Given the description of an element on the screen output the (x, y) to click on. 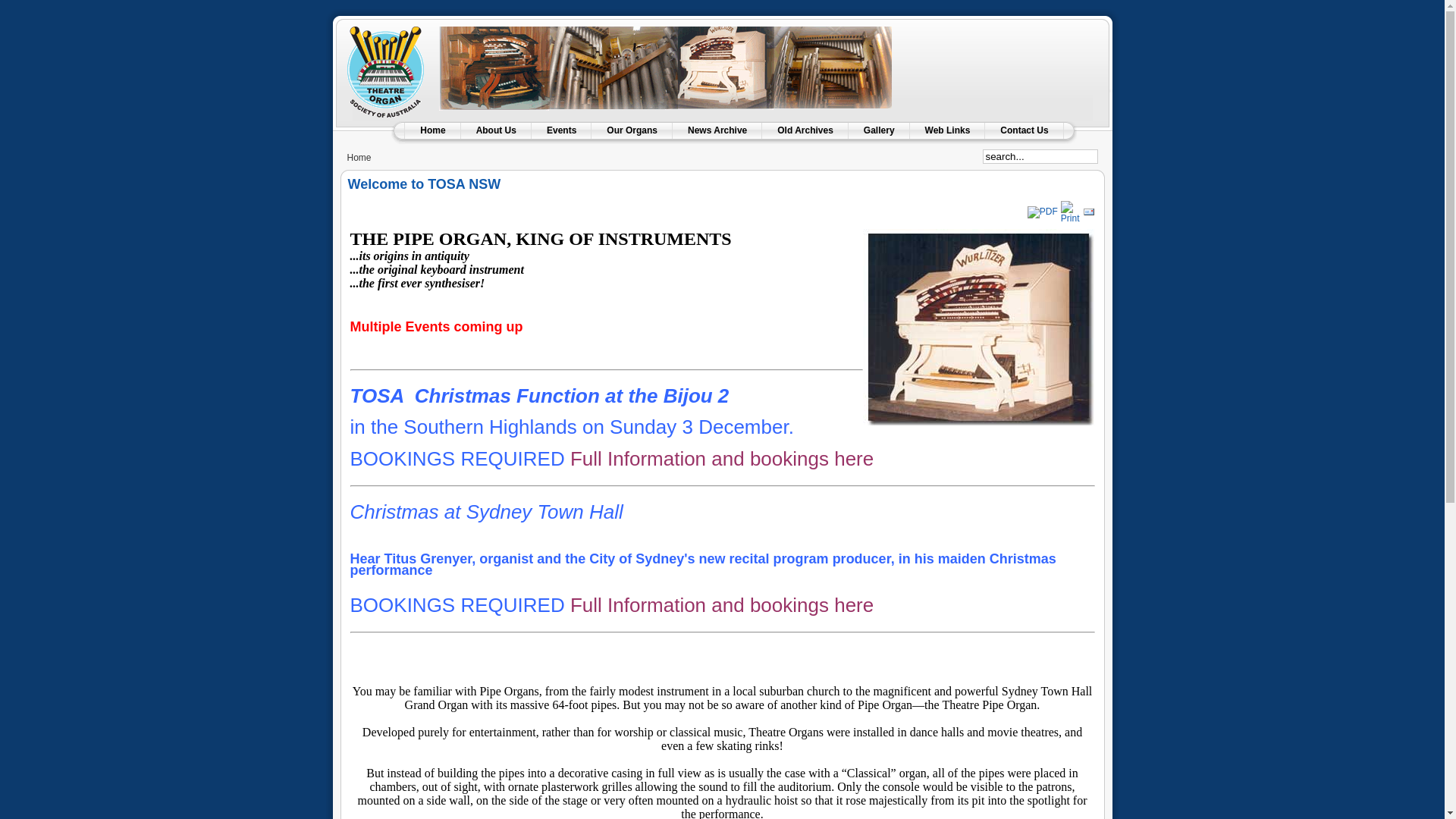
Full Information and bookings here Element type: text (721, 462)
Events Element type: text (561, 130)
Print Element type: hover (1069, 218)
Contact Us Element type: text (1024, 130)
News Archive Element type: text (717, 130)
Full Information and bookings here Element type: text (721, 608)
Web Links Element type: text (947, 130)
About Us Element type: text (496, 130)
Home Element type: text (432, 130)
PDF Element type: hover (1042, 211)
E-mail Element type: hover (1088, 215)
Old Archives Element type: text (805, 130)
Gallery Element type: text (879, 130)
Our Organs Element type: text (631, 130)
